Given the description of an element on the screen output the (x, y) to click on. 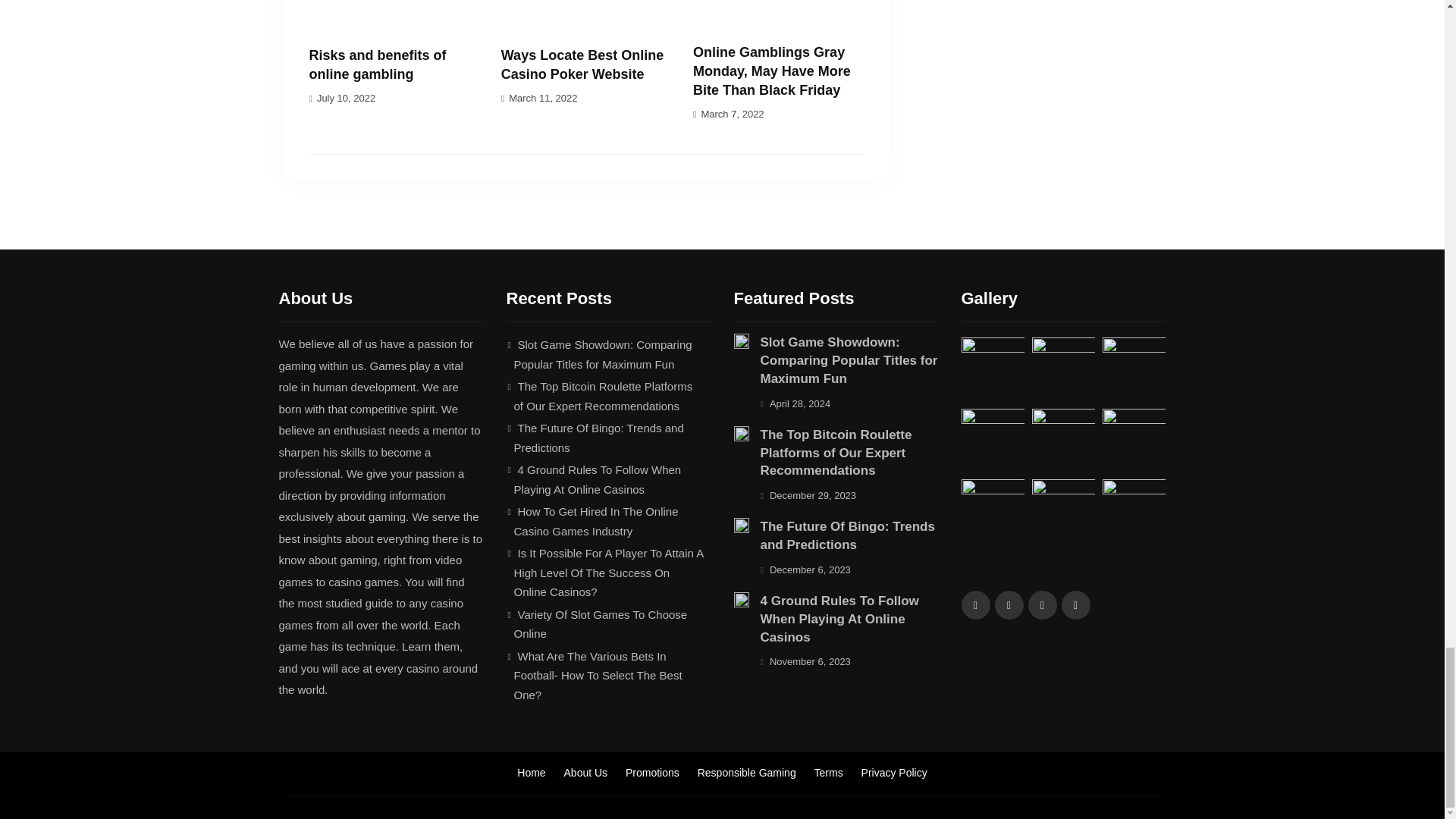
Risks and benefits of online gambling (377, 64)
Ways Locate Best Online Casino Poker Website (581, 64)
